Given the description of an element on the screen output the (x, y) to click on. 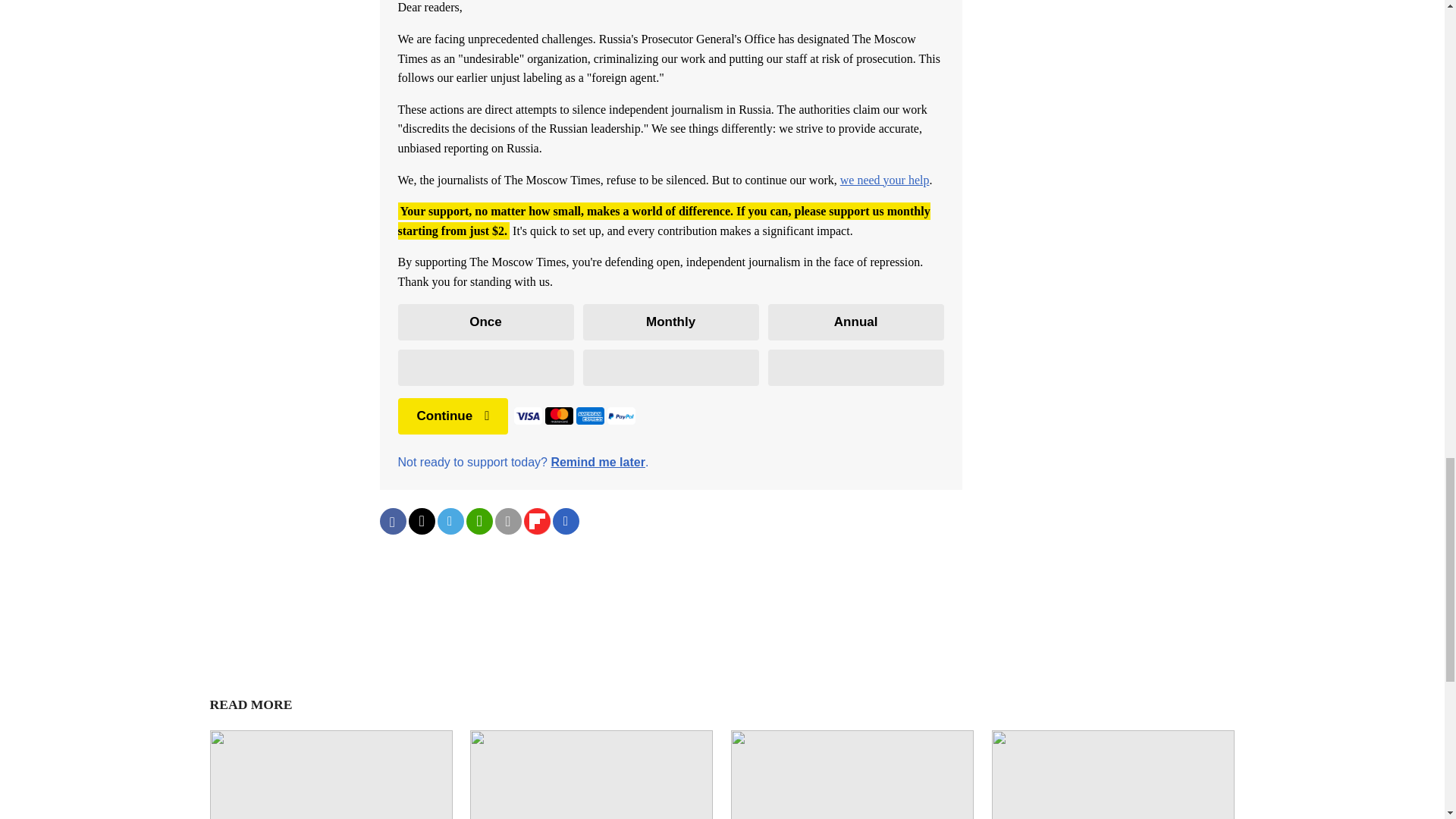
Share on Telegram (449, 520)
we need your help (885, 179)
Share on Twitter (420, 520)
Share on Flipboard (536, 520)
Share on Facebook (392, 520)
